Given the description of an element on the screen output the (x, y) to click on. 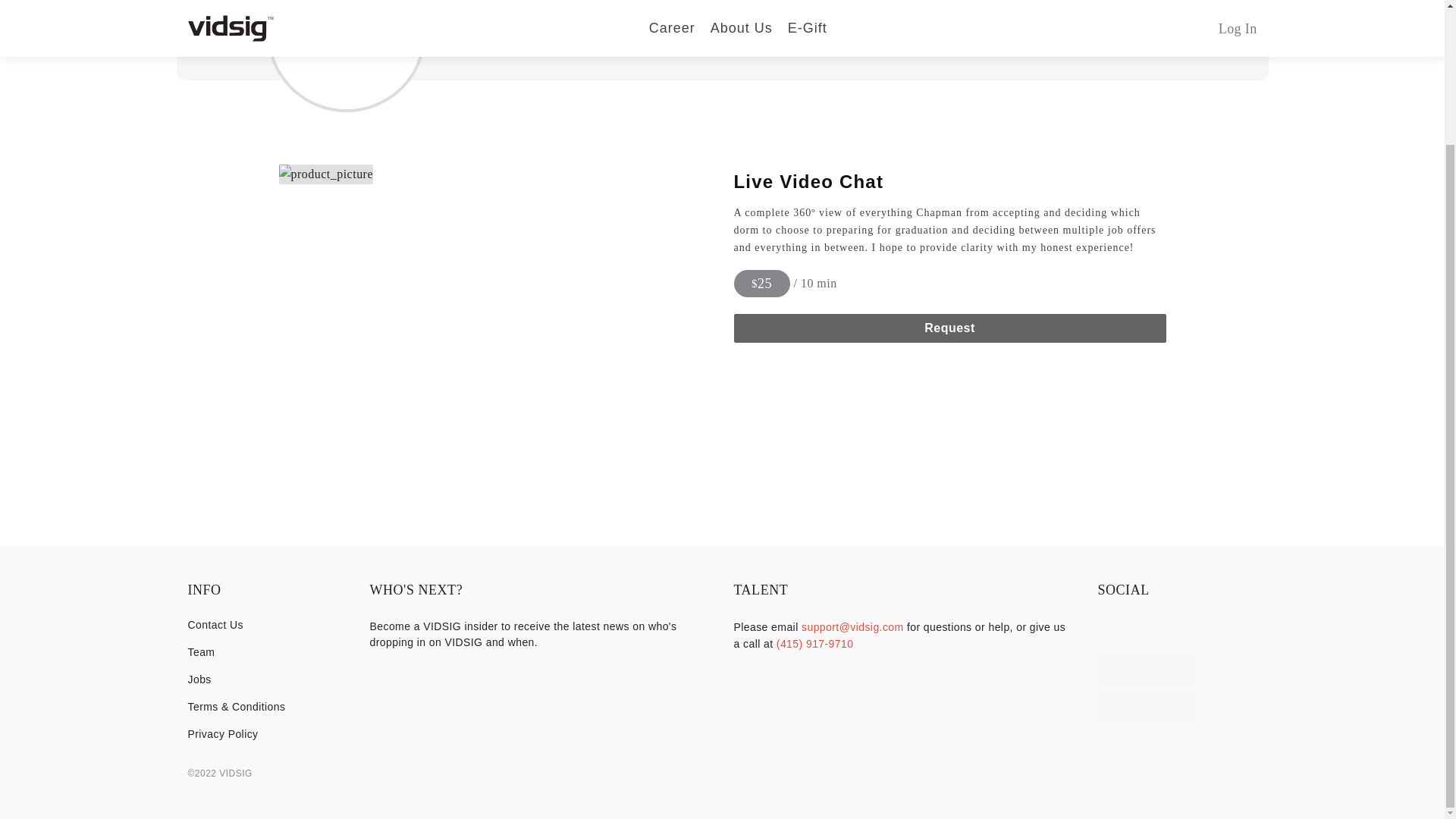
Jobs (267, 679)
Team (267, 652)
Request (949, 328)
Privacy Policy (267, 734)
Contact Us (267, 624)
